Given the description of an element on the screen output the (x, y) to click on. 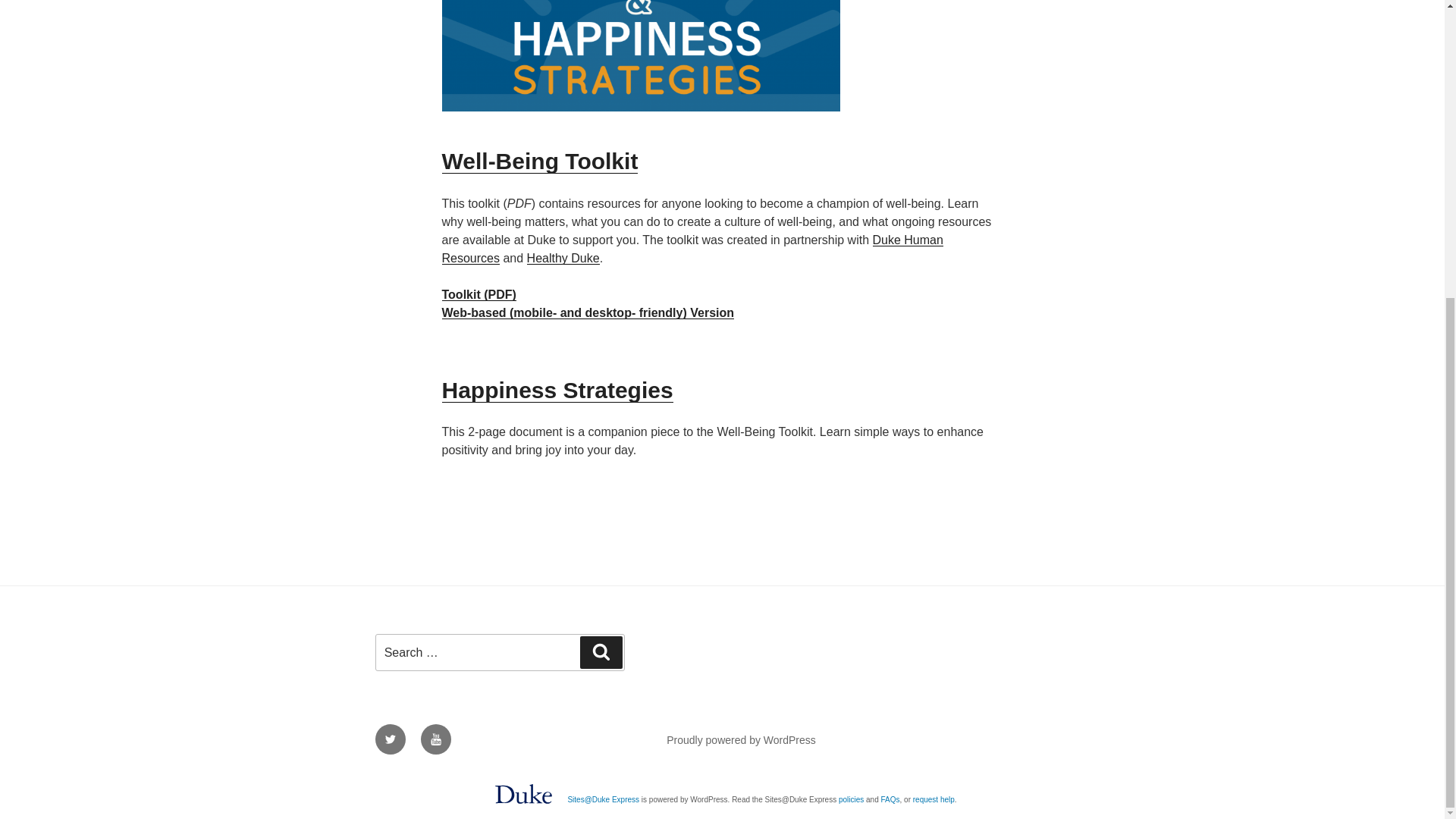
Duke Human Resources (691, 248)
Visit Duke.edu (523, 807)
Well-Being Toolkit (539, 160)
Healthy Duke (563, 257)
